Given the description of an element on the screen output the (x, y) to click on. 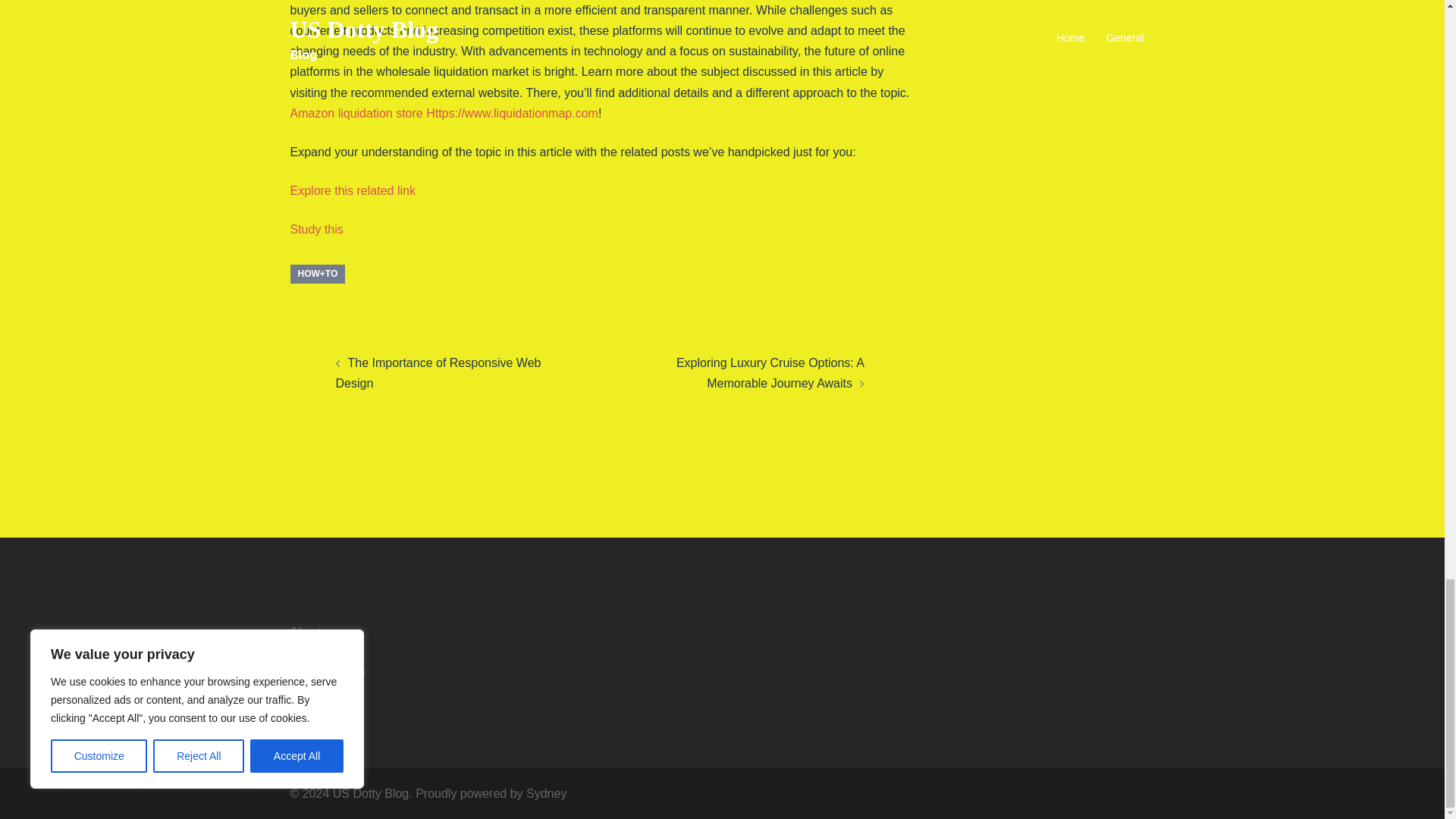
Explore this related link (351, 190)
The Importance of Responsive Web Design (437, 372)
Study this (315, 228)
Exploring Luxury Cruise Options: A Memorable Journey Awaits (770, 372)
